Given the description of an element on the screen output the (x, y) to click on. 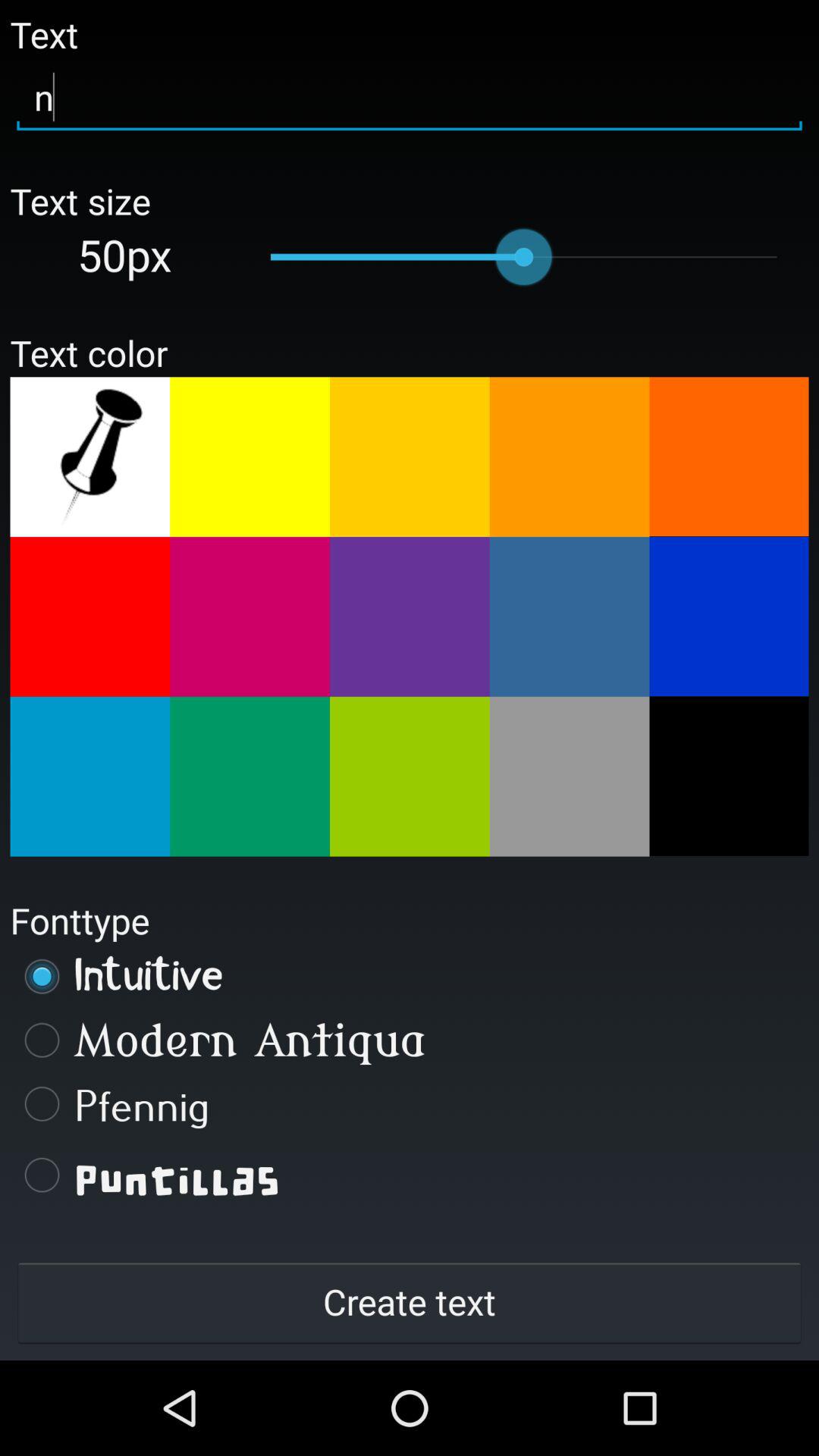
text color (249, 456)
